Given the description of an element on the screen output the (x, y) to click on. 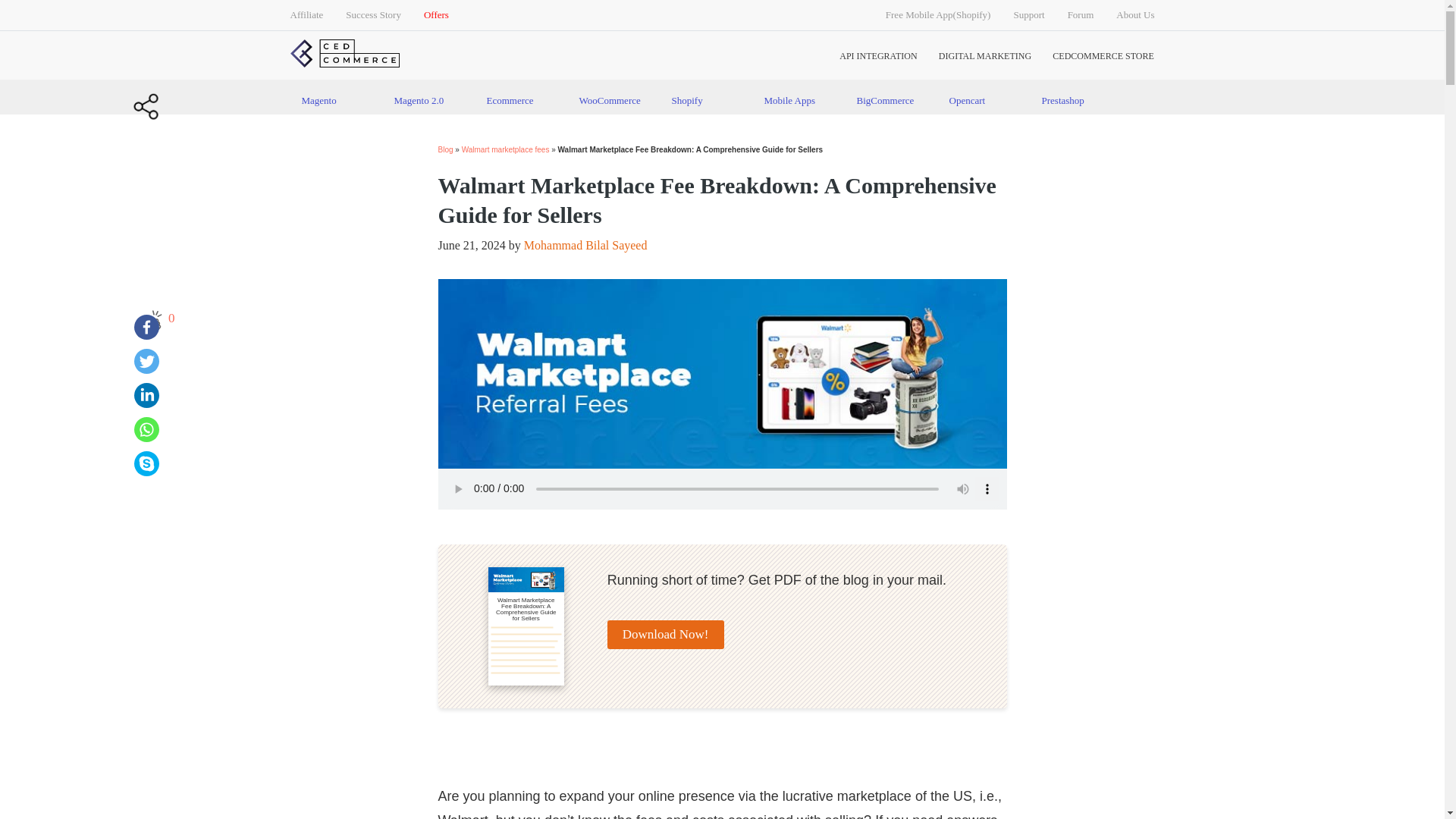
Affiliate (306, 14)
DIGITAL MARKETING (984, 55)
Shopify (705, 100)
Ecommerce (520, 100)
About Us (1135, 14)
Forum (1080, 14)
Magento 2.0 (427, 100)
WooCommerce (612, 100)
API INTEGRATION (878, 55)
Offers (435, 14)
Affiliate (306, 14)
Mobile Apps (797, 100)
Magento (334, 100)
Offer (435, 14)
success-story (373, 14)
